Given the description of an element on the screen output the (x, y) to click on. 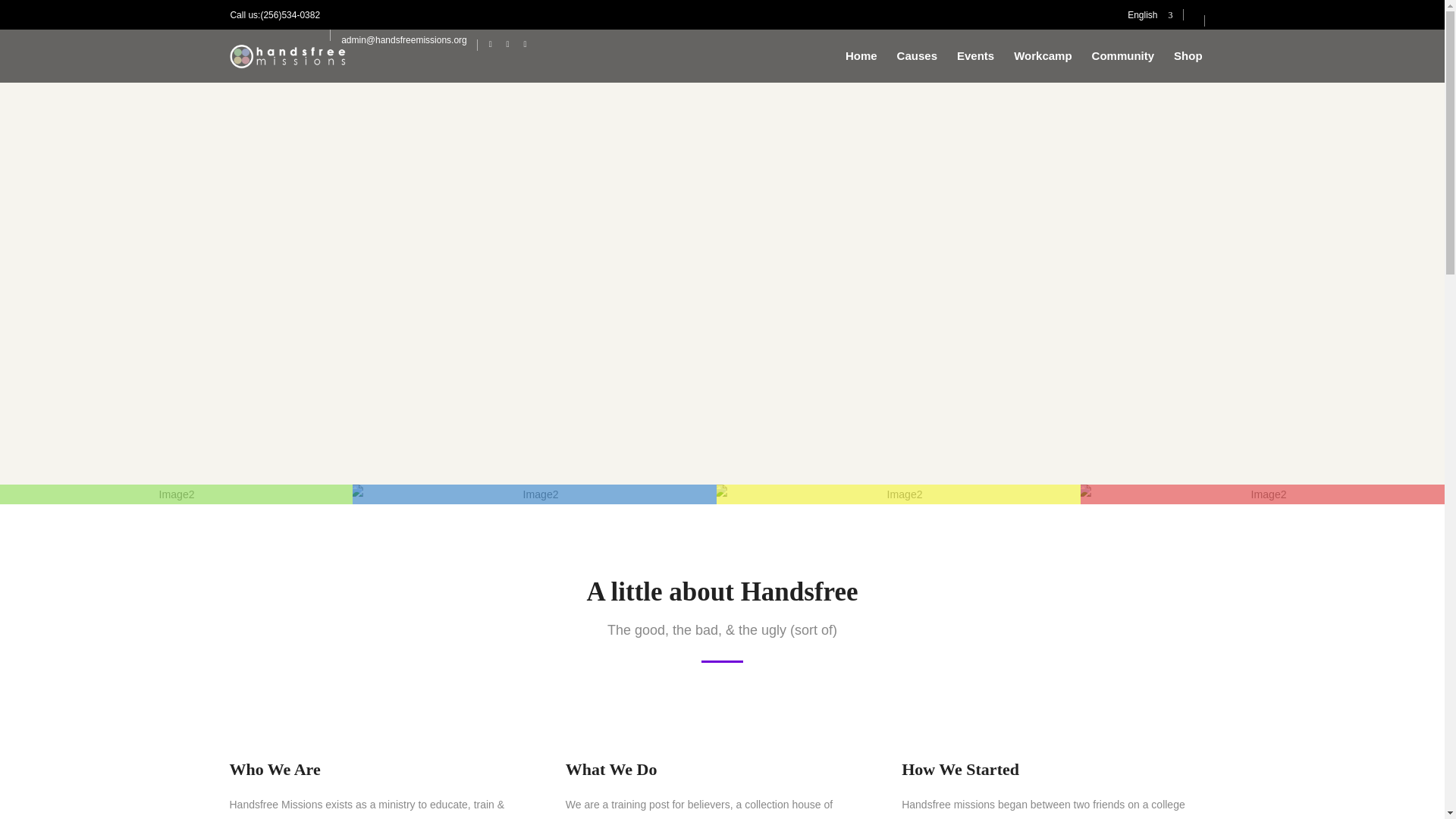
Home (860, 55)
Causes (916, 55)
 English (1149, 15)
Workcamp (1042, 55)
Shop (1187, 55)
Events (975, 55)
Community (1122, 55)
